Given the description of an element on the screen output the (x, y) to click on. 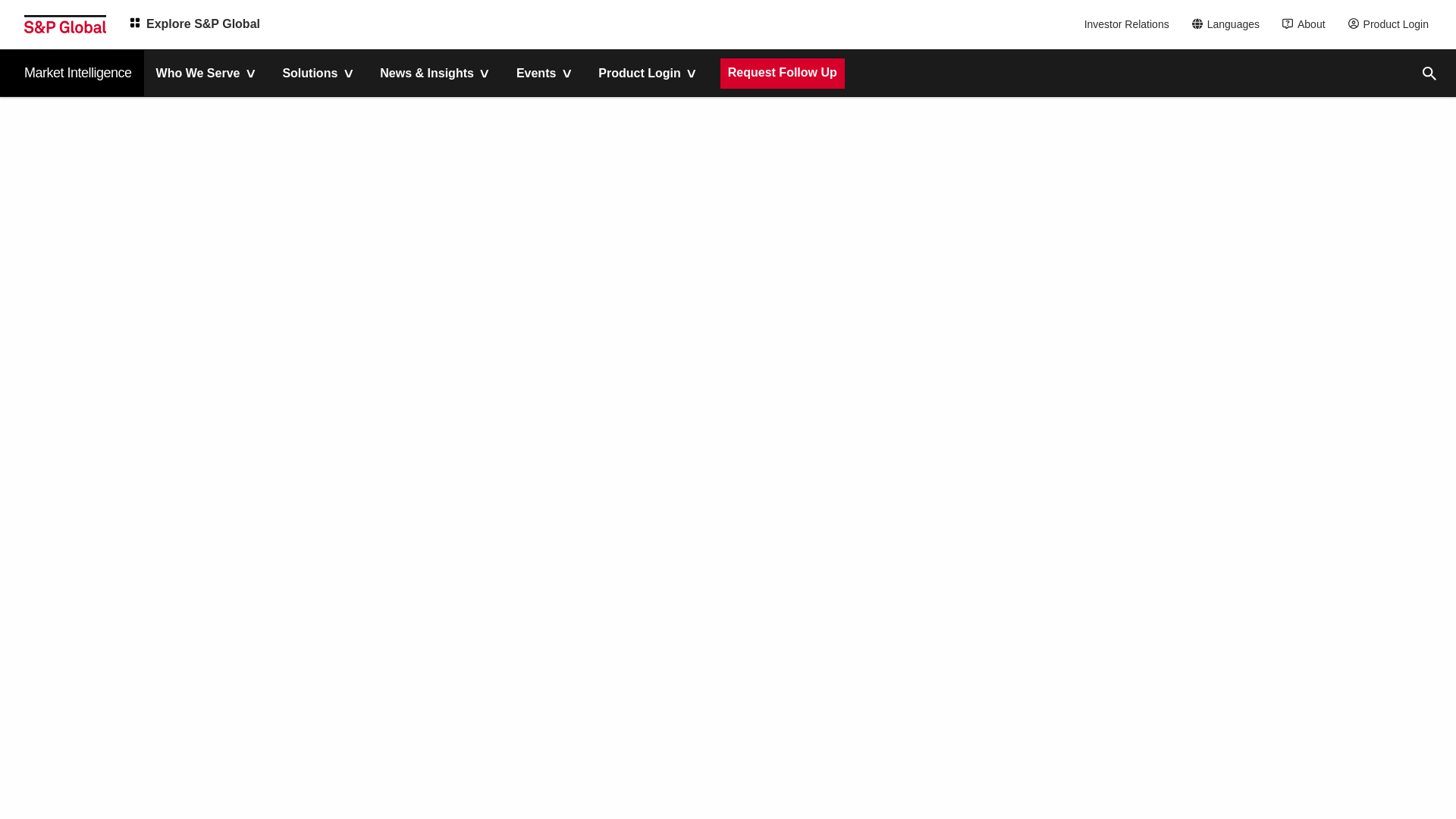
Investor Relations (1129, 24)
Languages (1230, 24)
About (1307, 24)
Product Login (1392, 24)
